Given the description of an element on the screen output the (x, y) to click on. 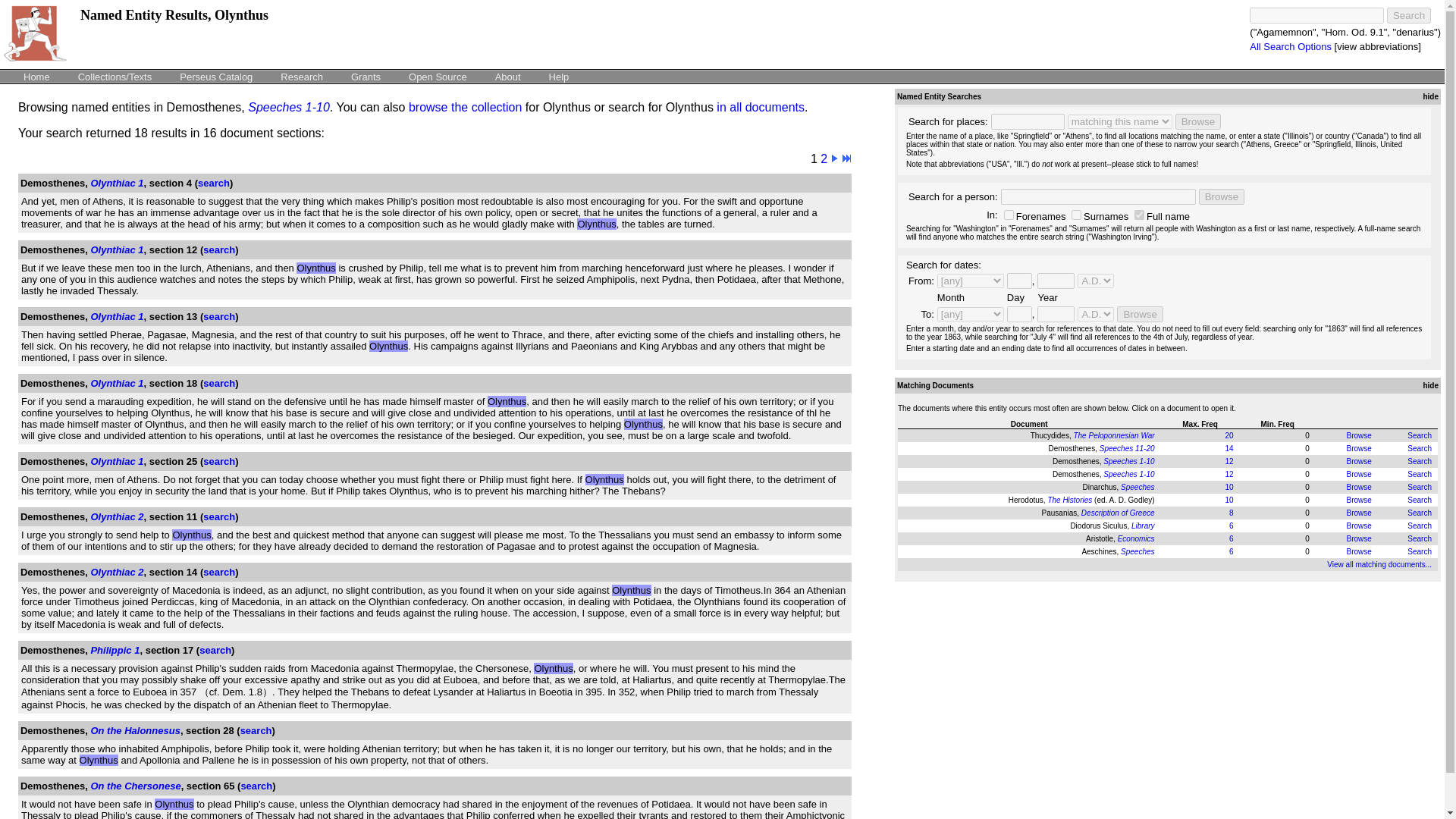
14 (1228, 448)
Browse (1358, 474)
hide (1429, 96)
Open Source (437, 76)
Search (1419, 461)
Perseus Catalog (215, 76)
Grants (365, 76)
Browse (1197, 121)
Research (301, 76)
Browse (1221, 196)
